Given the description of an element on the screen output the (x, y) to click on. 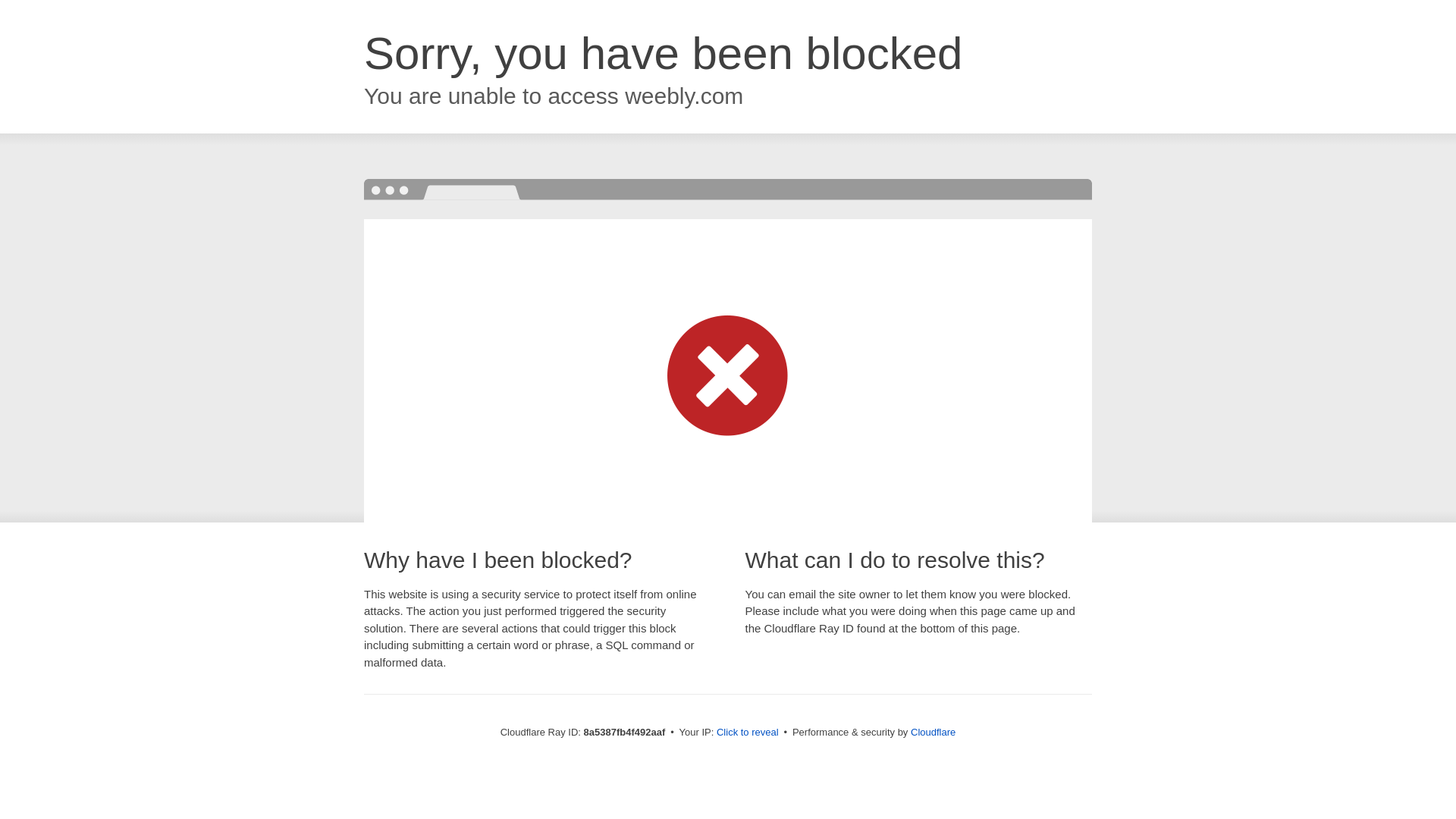
Click to reveal (747, 732)
Cloudflare (933, 731)
